Given the description of an element on the screen output the (x, y) to click on. 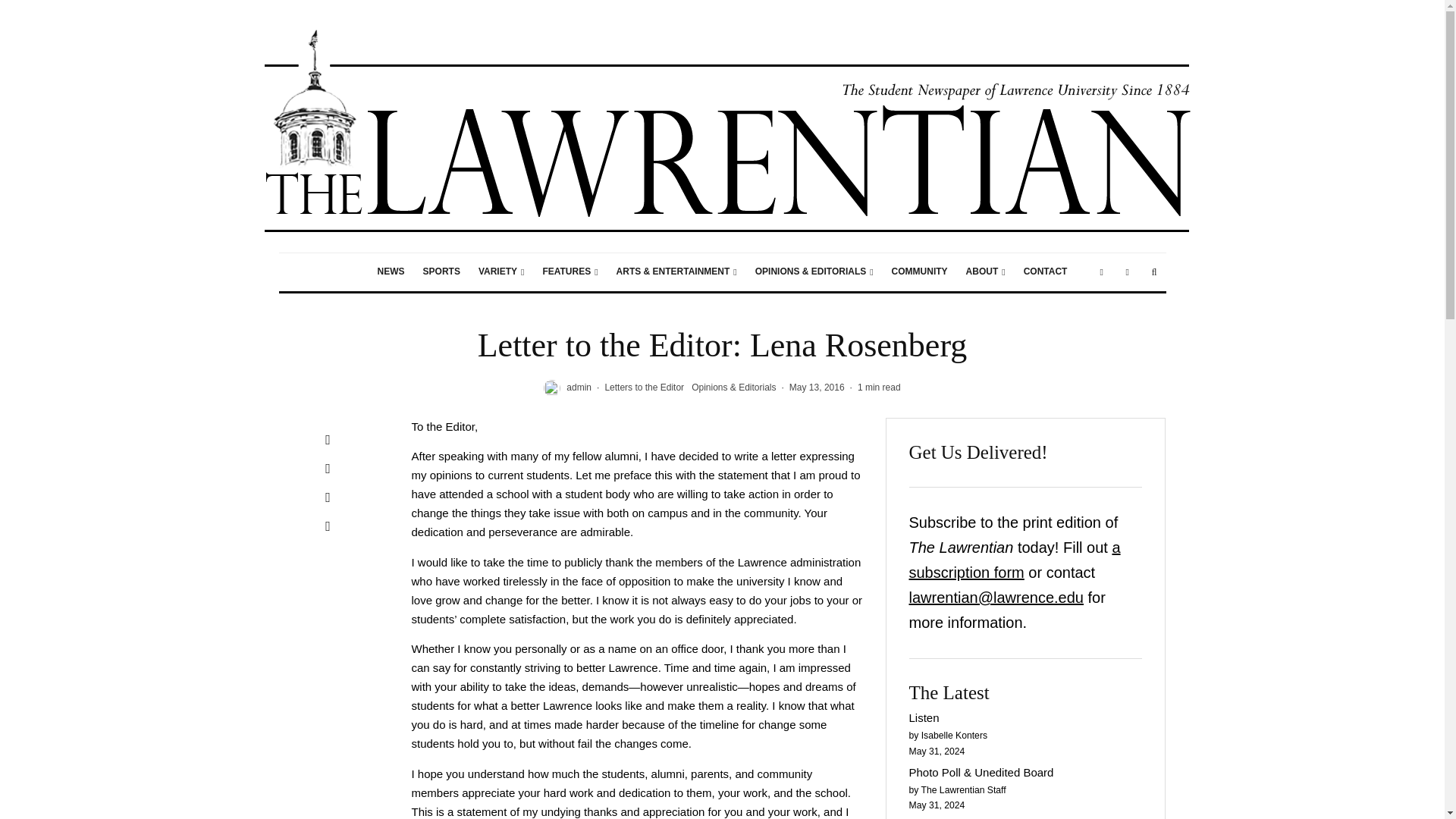
FEATURES (569, 272)
Posts by admin (578, 387)
NEWS (390, 272)
VARIETY (501, 272)
SPORTS (440, 272)
